Given the description of an element on the screen output the (x, y) to click on. 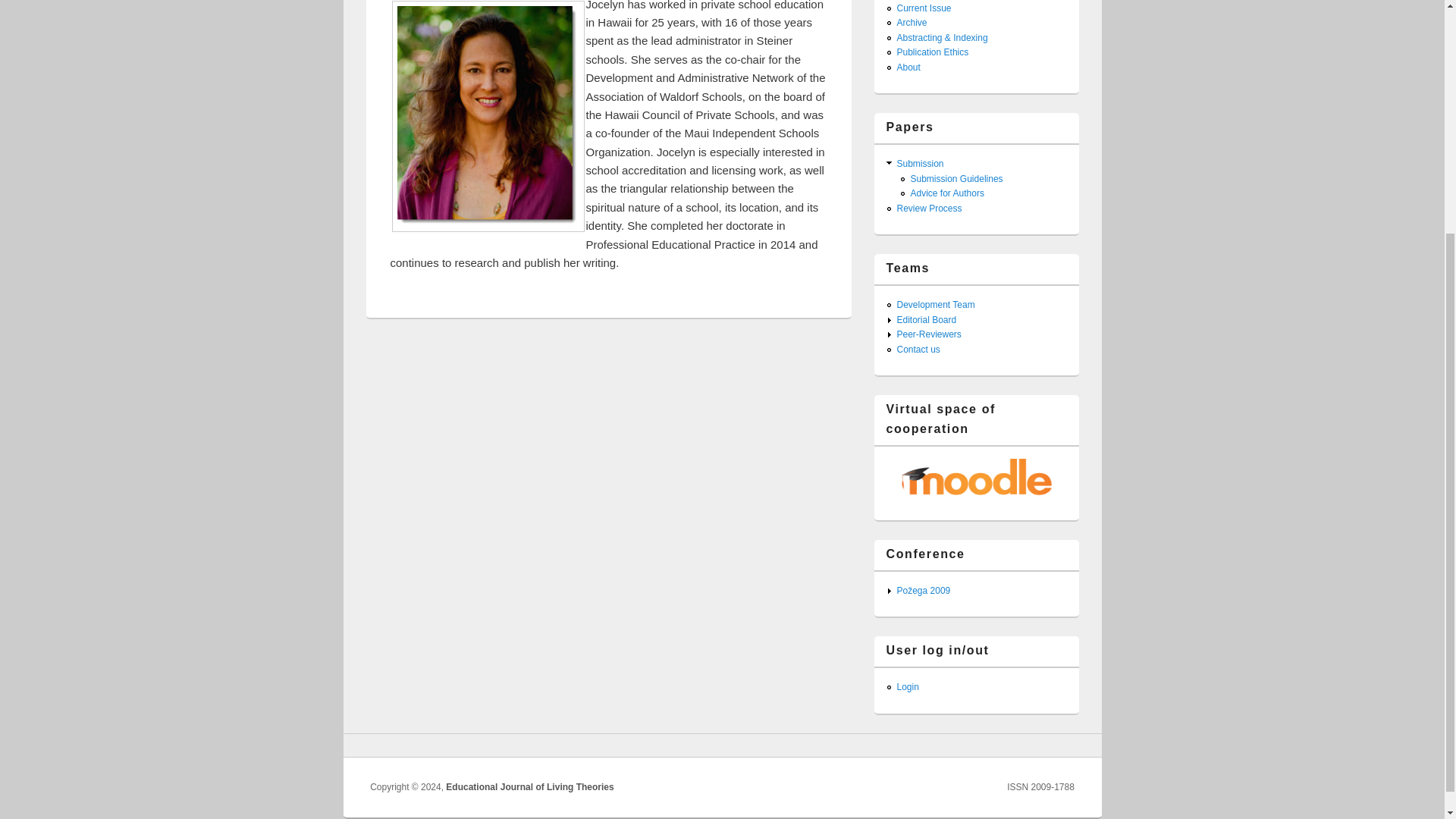
Peer-Reviewers (928, 334)
Archive (911, 22)
Login (907, 686)
Development Team (935, 304)
About (908, 67)
Educational Journal of Living Theories (528, 787)
Submission Guidelines (956, 178)
Editorial Board (926, 319)
Contact us (917, 348)
Publication Ethics (932, 51)
